Given the description of an element on the screen output the (x, y) to click on. 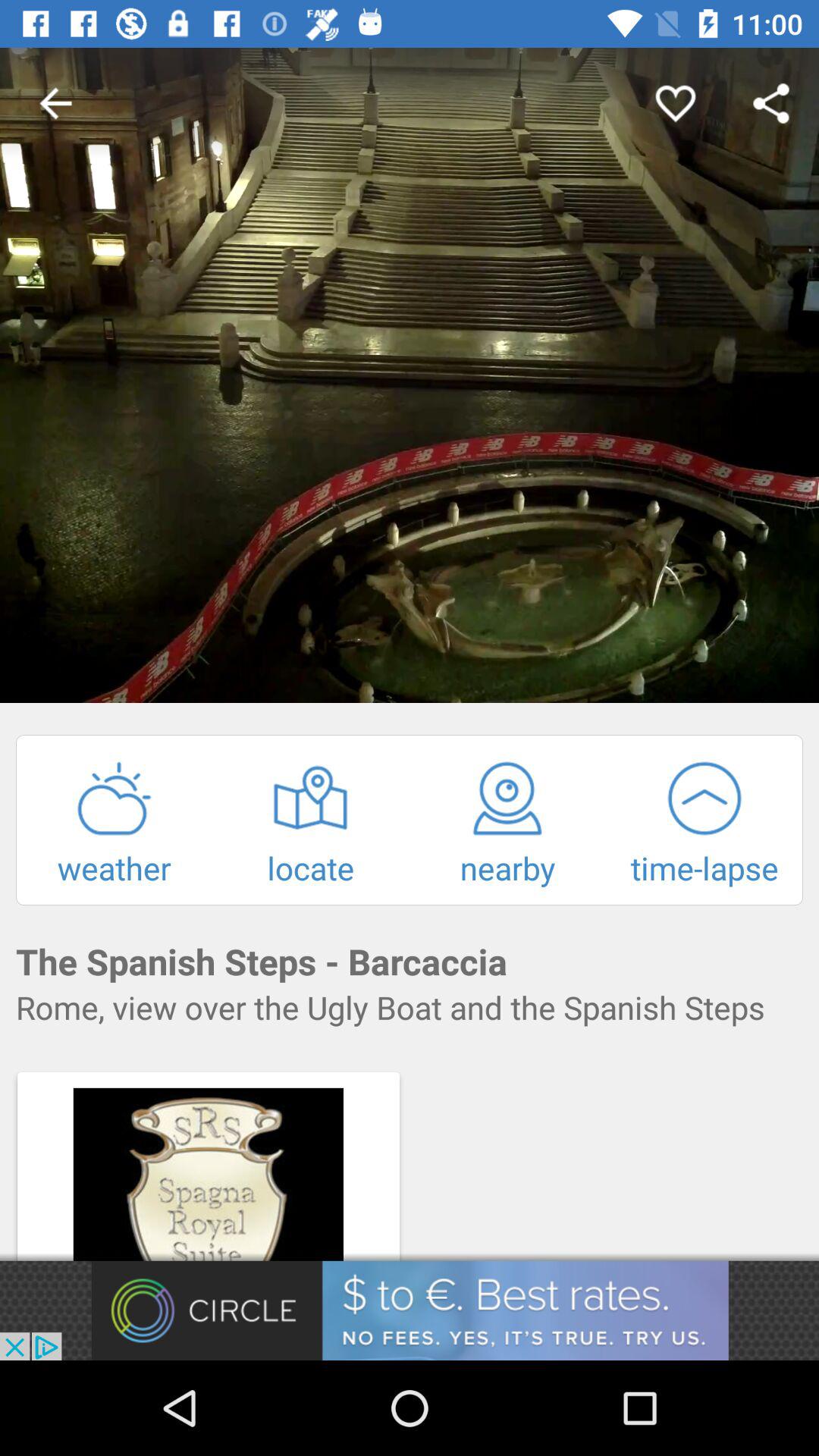
go to add (409, 1310)
